Given the description of an element on the screen output the (x, y) to click on. 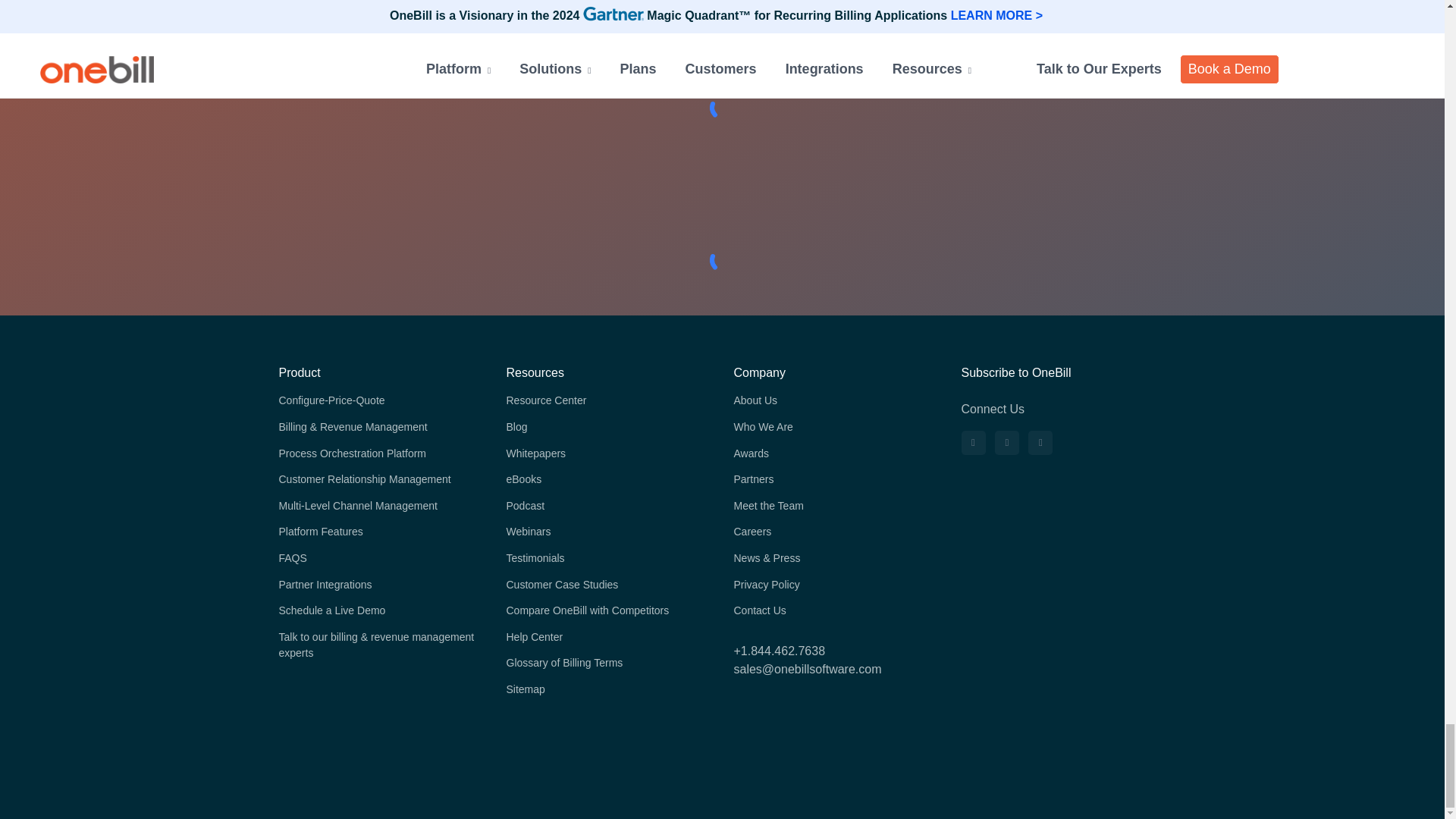
Facebook (1039, 442)
Twitter (1006, 442)
LinkedIn (972, 442)
